Given the description of an element on the screen output the (x, y) to click on. 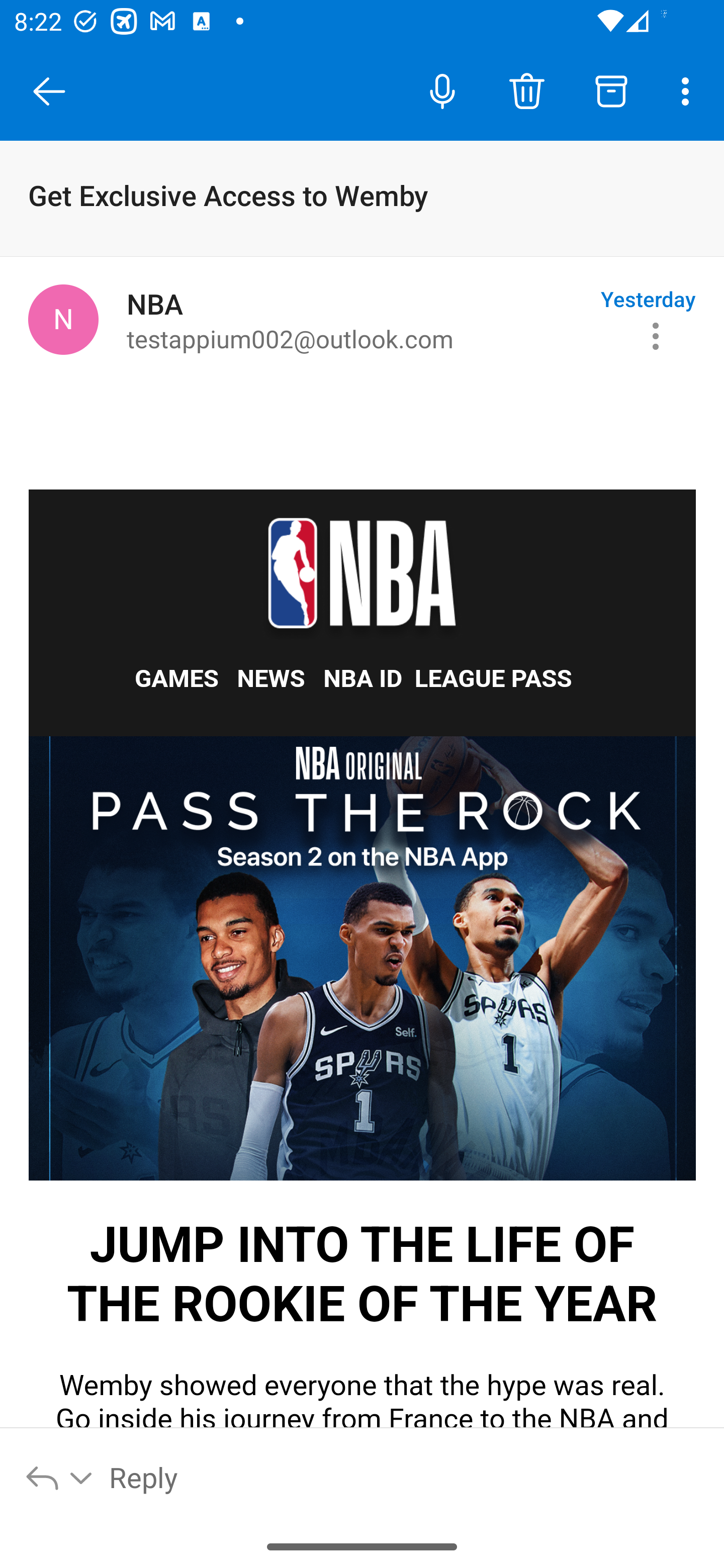
Close (49, 91)
Delete (526, 90)
Archive (611, 90)
More options (688, 90)
NBA, NBA@email.nba.com (63, 318)
NBA
to testappium002@outlook.com (356, 319)
Message actions (655, 336)
Reply options (59, 1476)
